Given the description of an element on the screen output the (x, y) to click on. 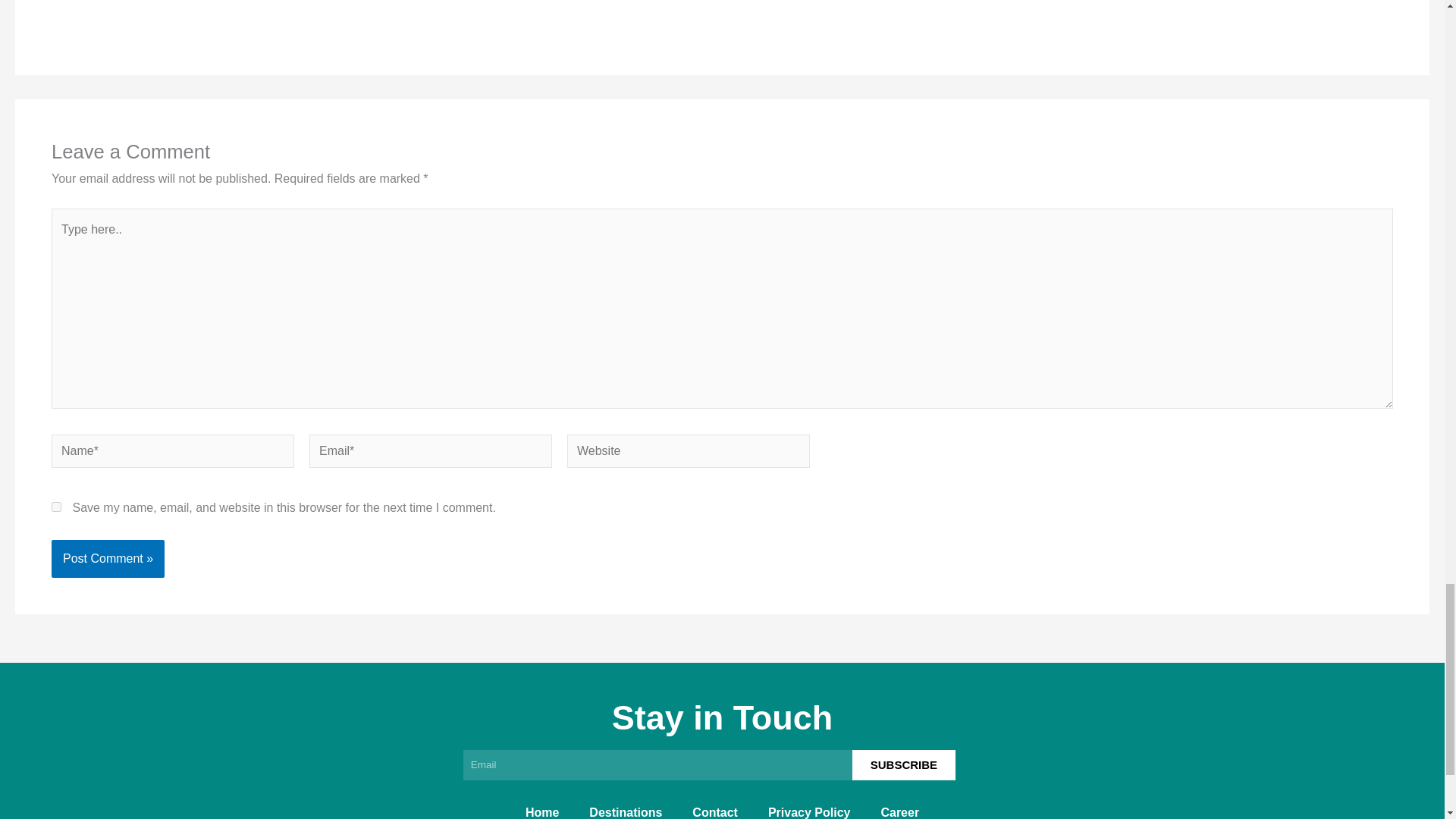
yes (55, 506)
